Given the description of an element on the screen output the (x, y) to click on. 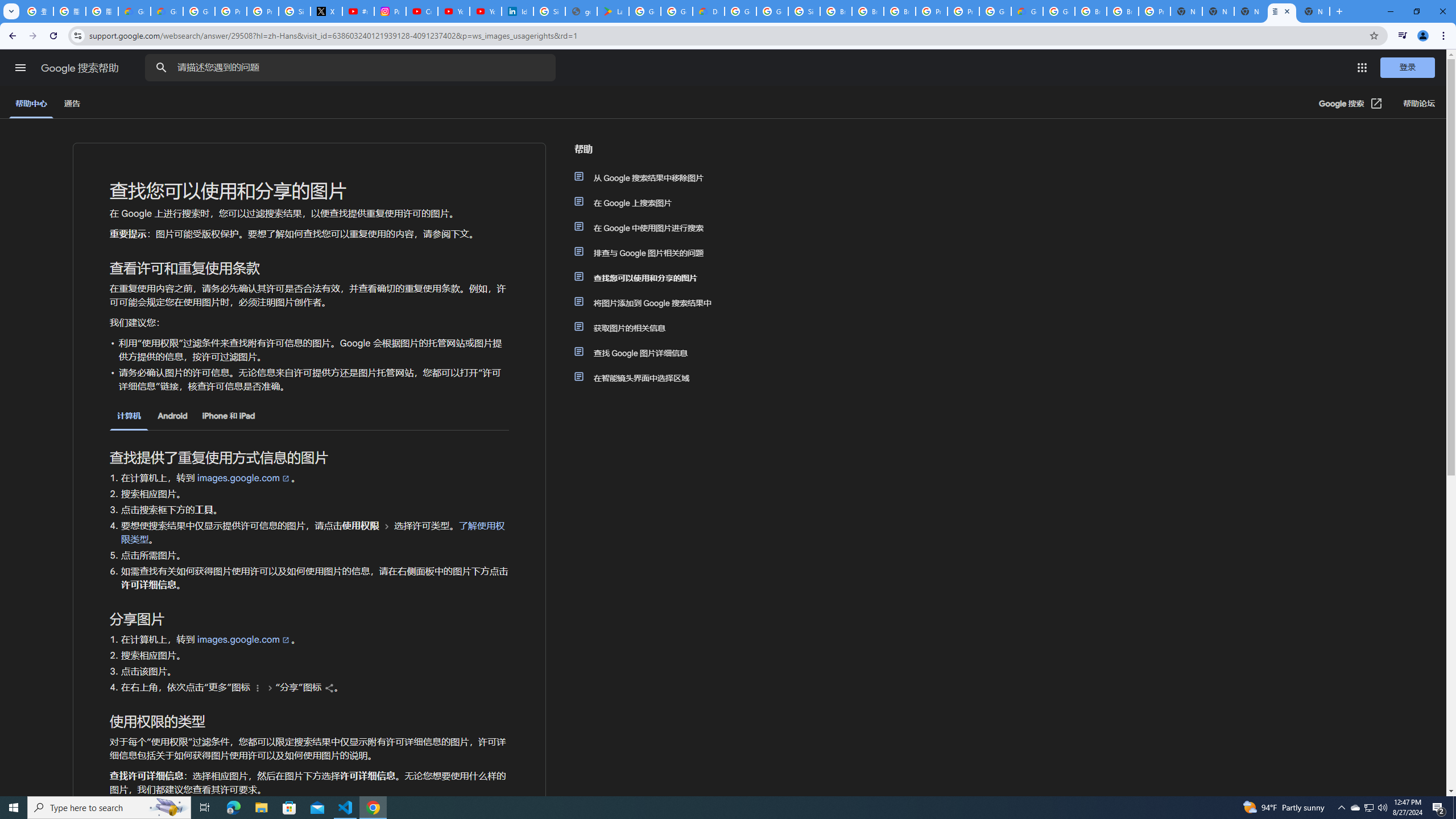
Browse Chrome as a guest - Computer - Google Chrome Help (899, 11)
Browse Chrome as a guest - Computer - Google Chrome Help (868, 11)
Sign in - Google Accounts (294, 11)
google_privacy_policy_en.pdf (581, 11)
Google Cloud Privacy Notice (166, 11)
Identity verification via Persona | LinkedIn Help (517, 11)
Android (172, 415)
Reload (52, 35)
